Given the description of an element on the screen output the (x, y) to click on. 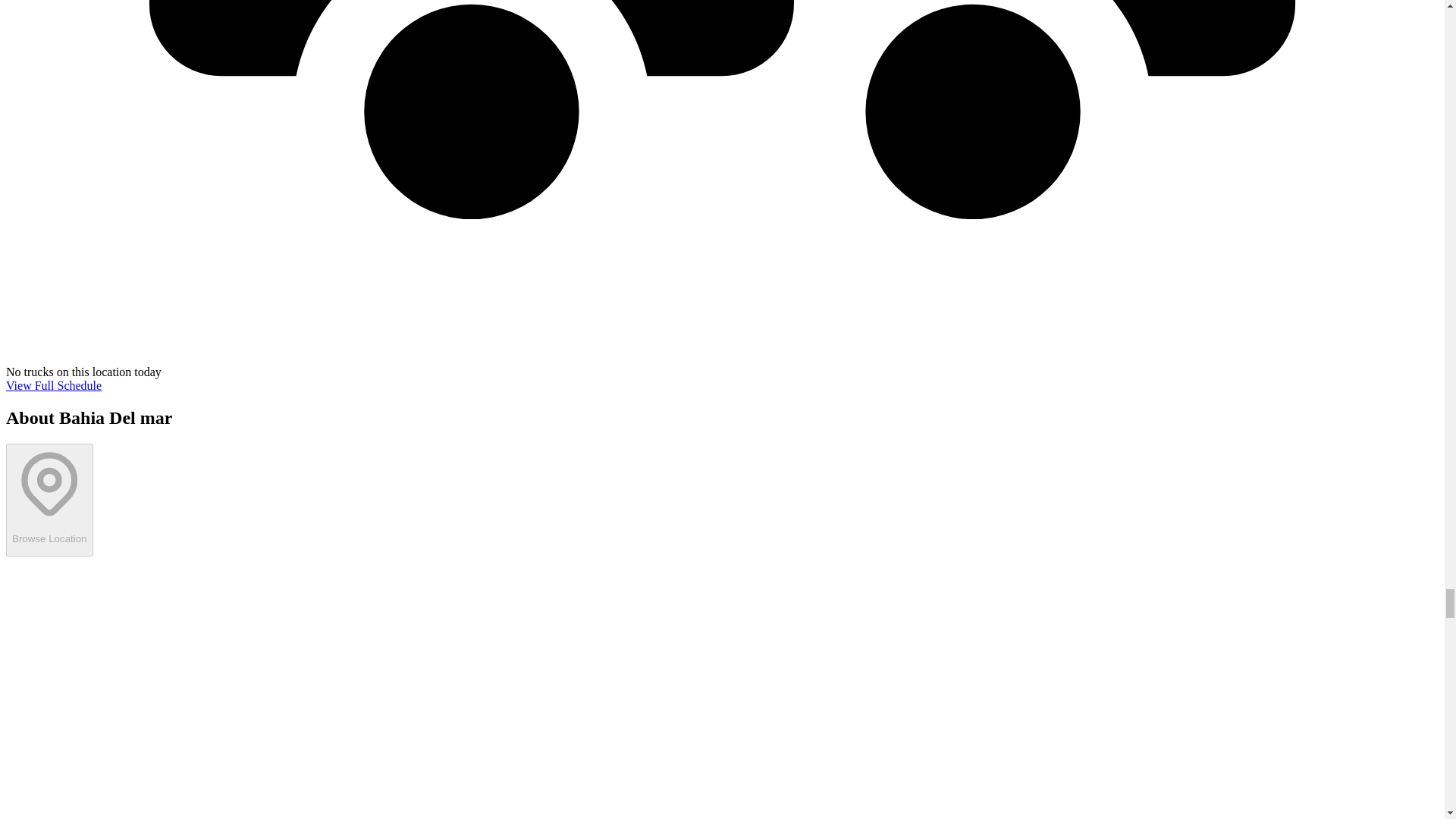
View Full Schedule (53, 385)
